Given the description of an element on the screen output the (x, y) to click on. 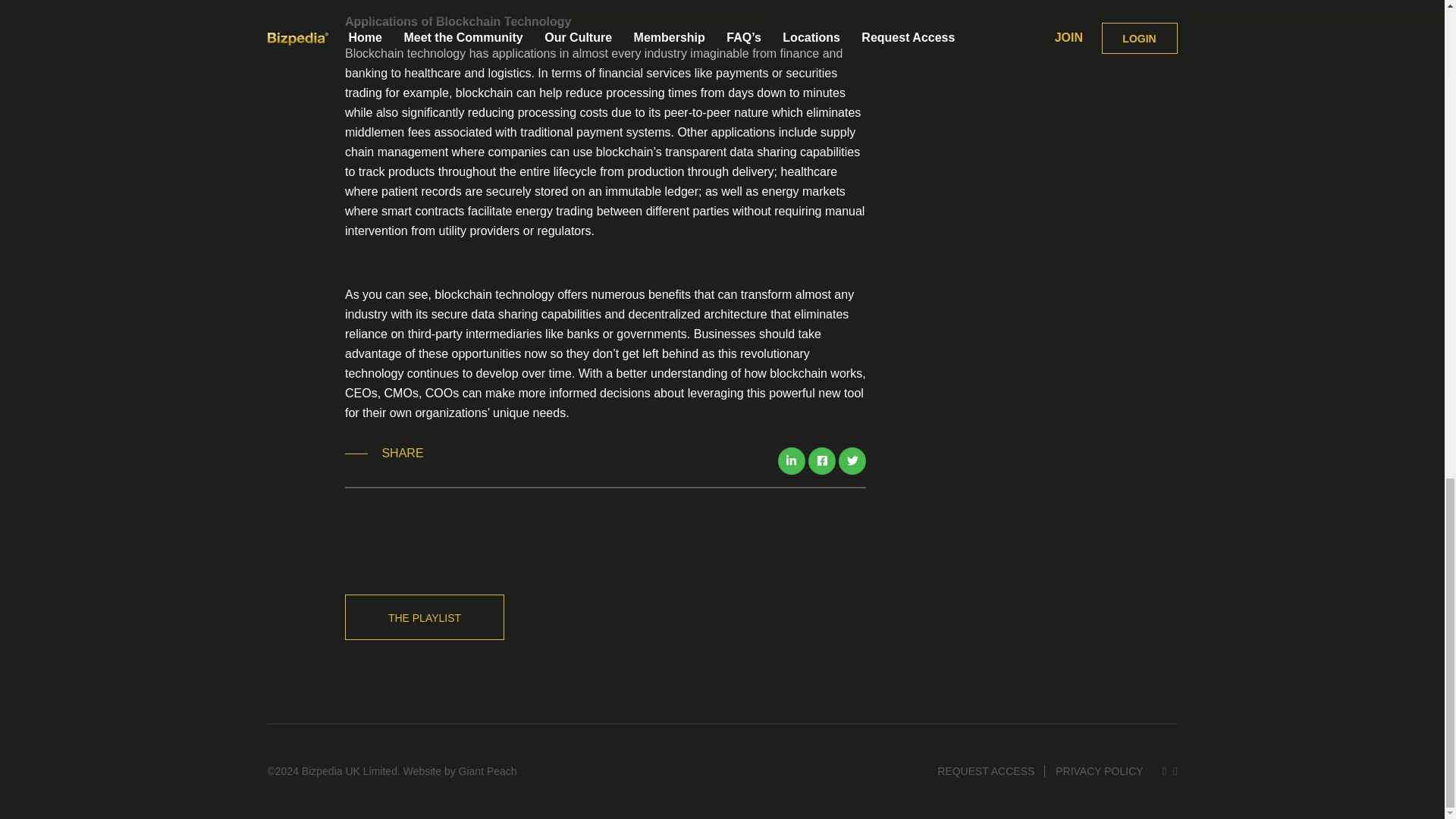
REQUEST ACCESS (985, 770)
PRIVACY POLICY (1099, 770)
Website by Giant Peach (459, 770)
THE PLAYLIST (424, 616)
